Given the description of an element on the screen output the (x, y) to click on. 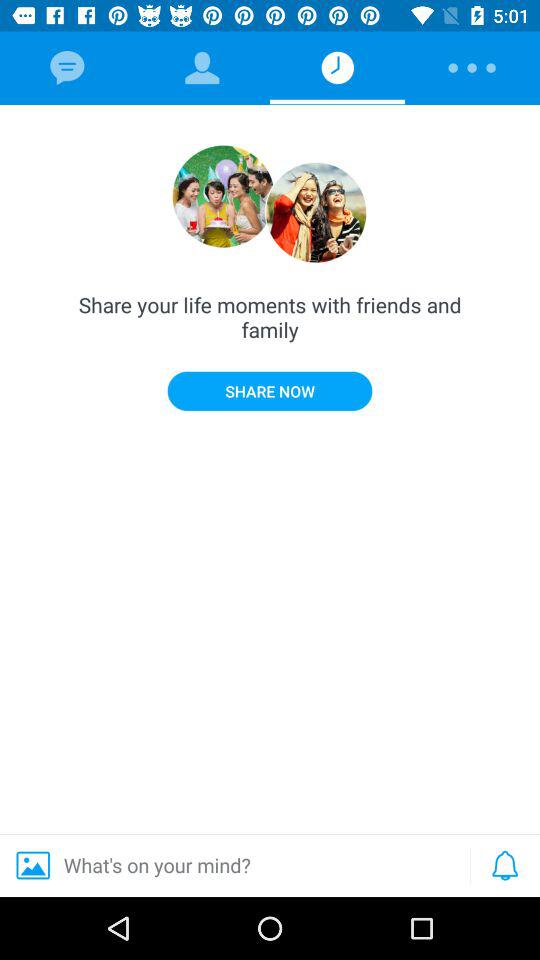
tap the item below share your life item (505, 865)
